Given the description of an element on the screen output the (x, y) to click on. 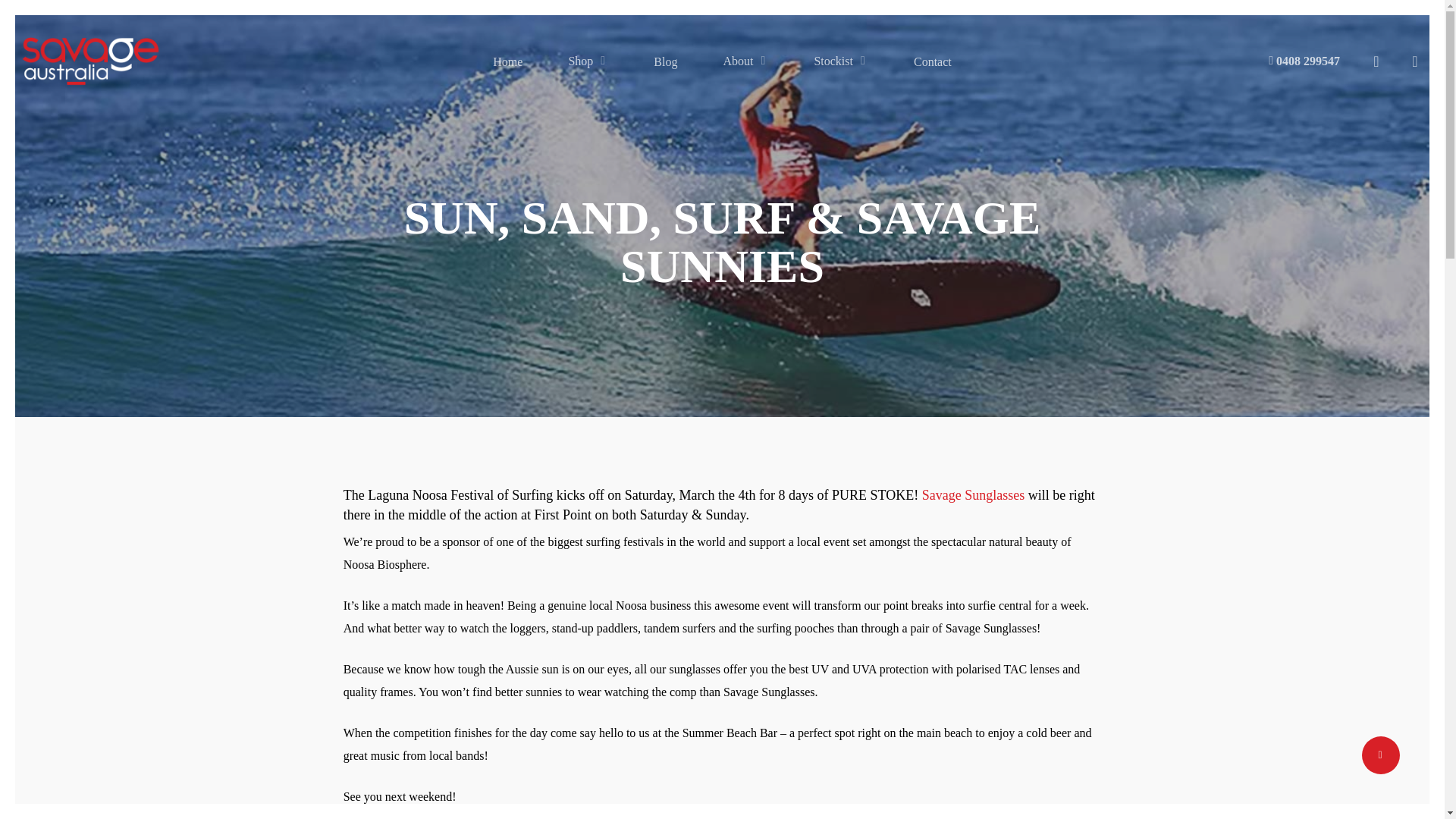
Contact (933, 60)
search (1376, 60)
facebook (695, 709)
Shop (587, 60)
Home (507, 60)
instagram (748, 709)
Stockist (840, 60)
About (745, 60)
0408 299547 (1303, 61)
Blog (665, 60)
